Given the description of an element on the screen output the (x, y) to click on. 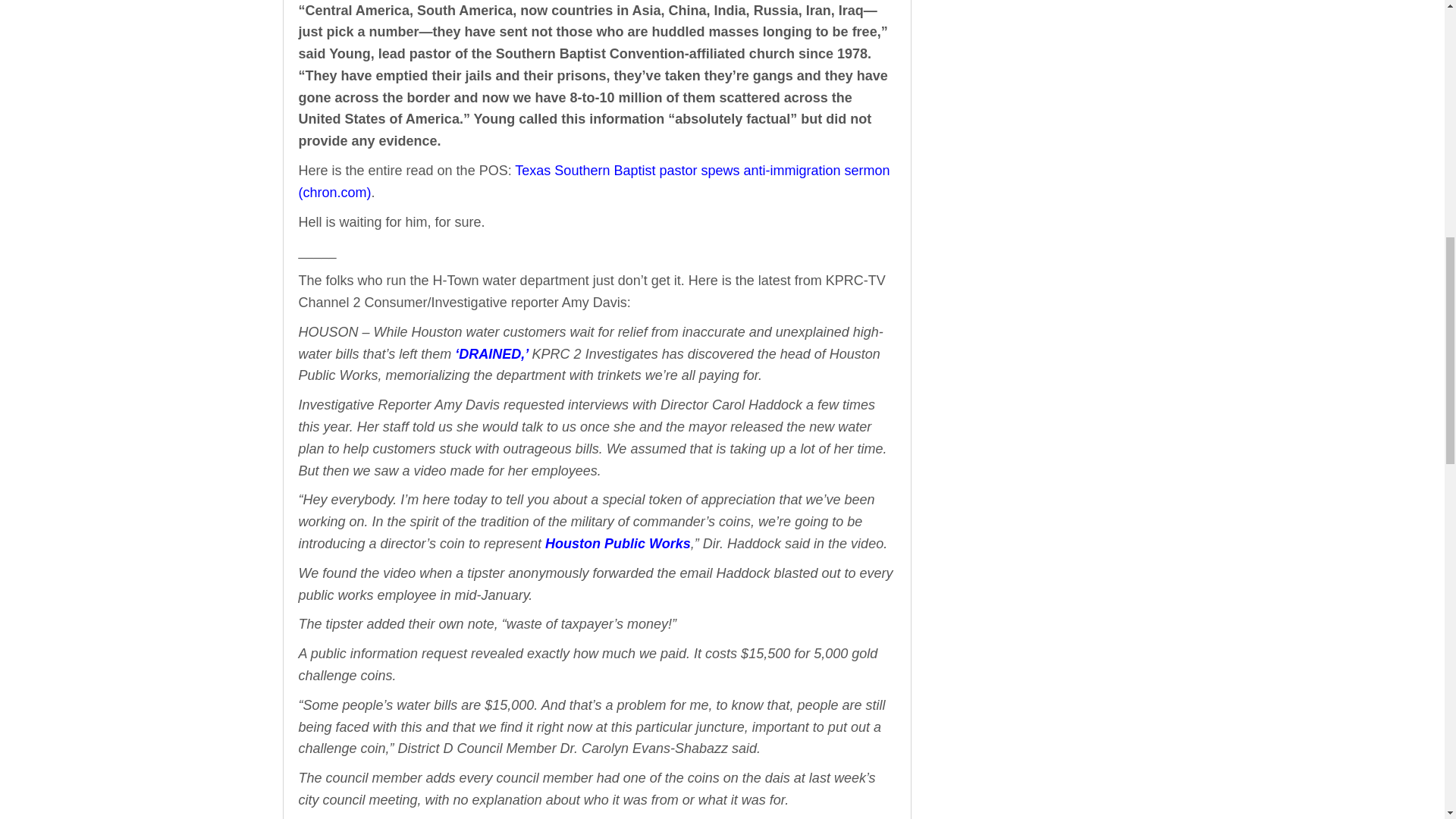
Houston Public Works (617, 543)
